Given the description of an element on the screen output the (x, y) to click on. 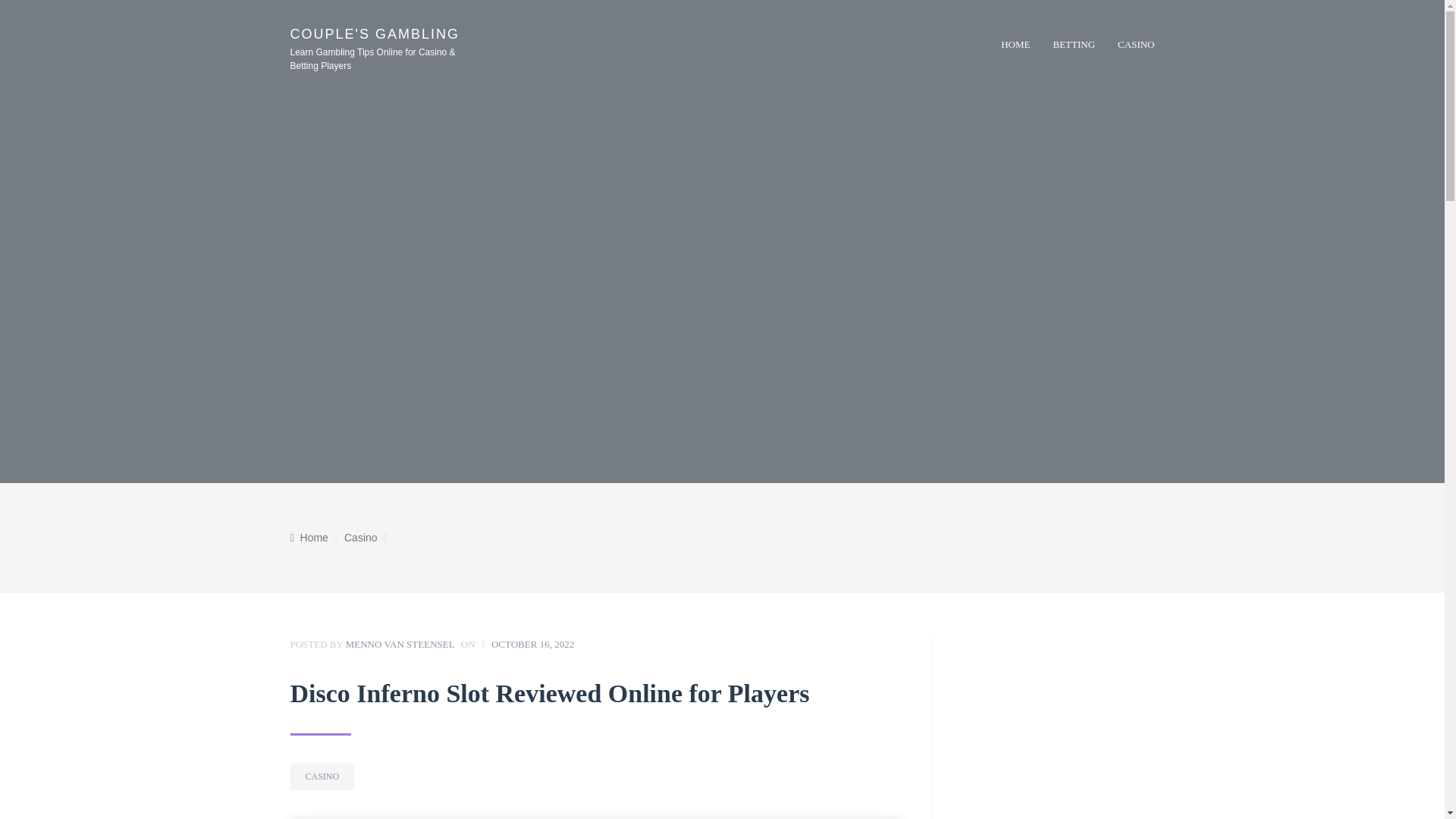
See articles from category - Casino (360, 538)
CASINO (1136, 44)
See articles from category - Casino (321, 776)
OCTOBER 16, 2022 (532, 644)
Home (308, 537)
go home (308, 537)
posted on October 16, 2022 (532, 644)
HOME (1015, 44)
Casino (360, 538)
BETTING (1073, 44)
